Given the description of an element on the screen output the (x, y) to click on. 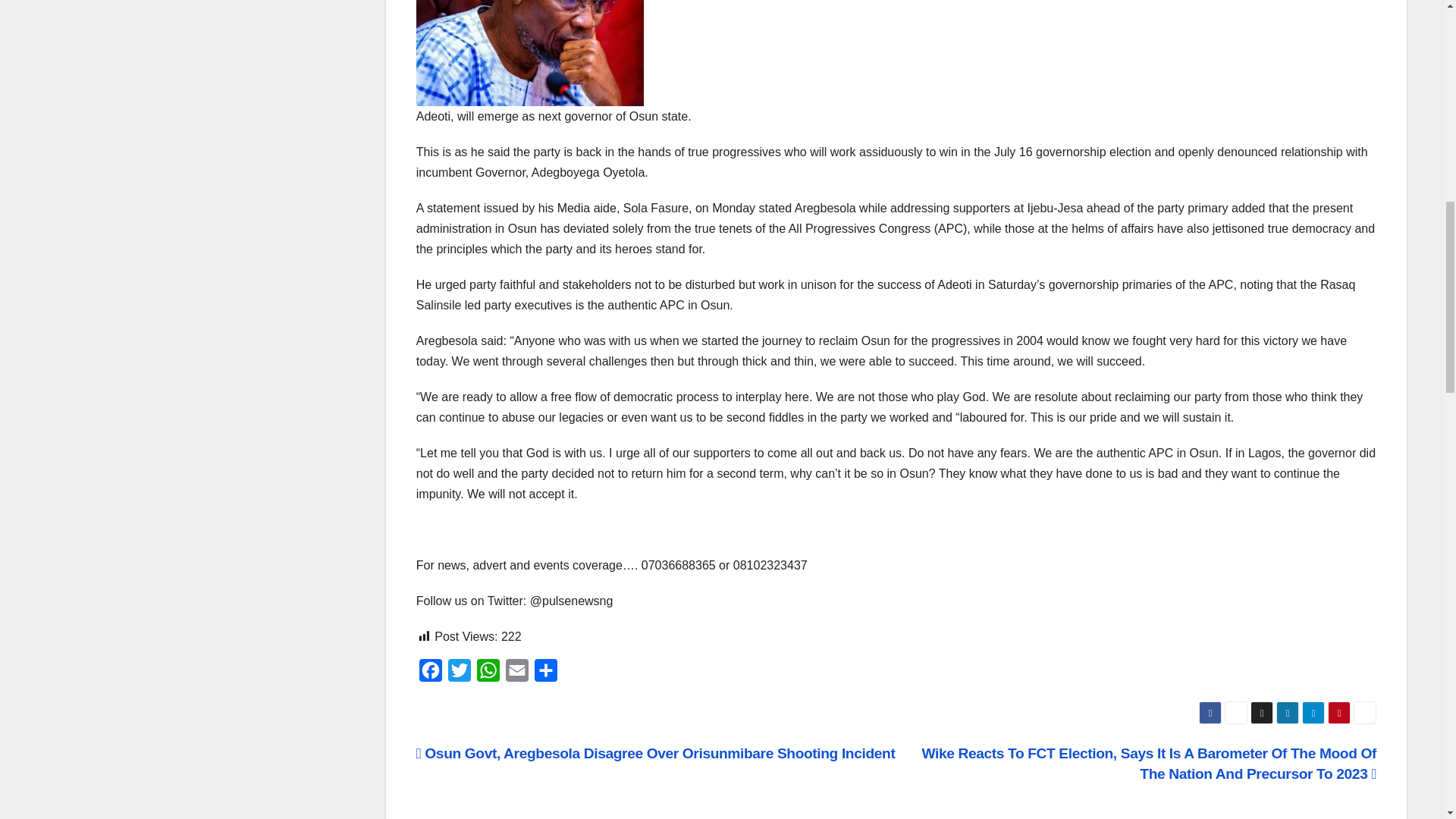
Facebook (430, 674)
Facebook (430, 674)
WhatsApp (488, 674)
WhatsApp (488, 674)
Twitter (459, 674)
Share (545, 674)
Twitter (459, 674)
Email (516, 674)
